Given the description of an element on the screen output the (x, y) to click on. 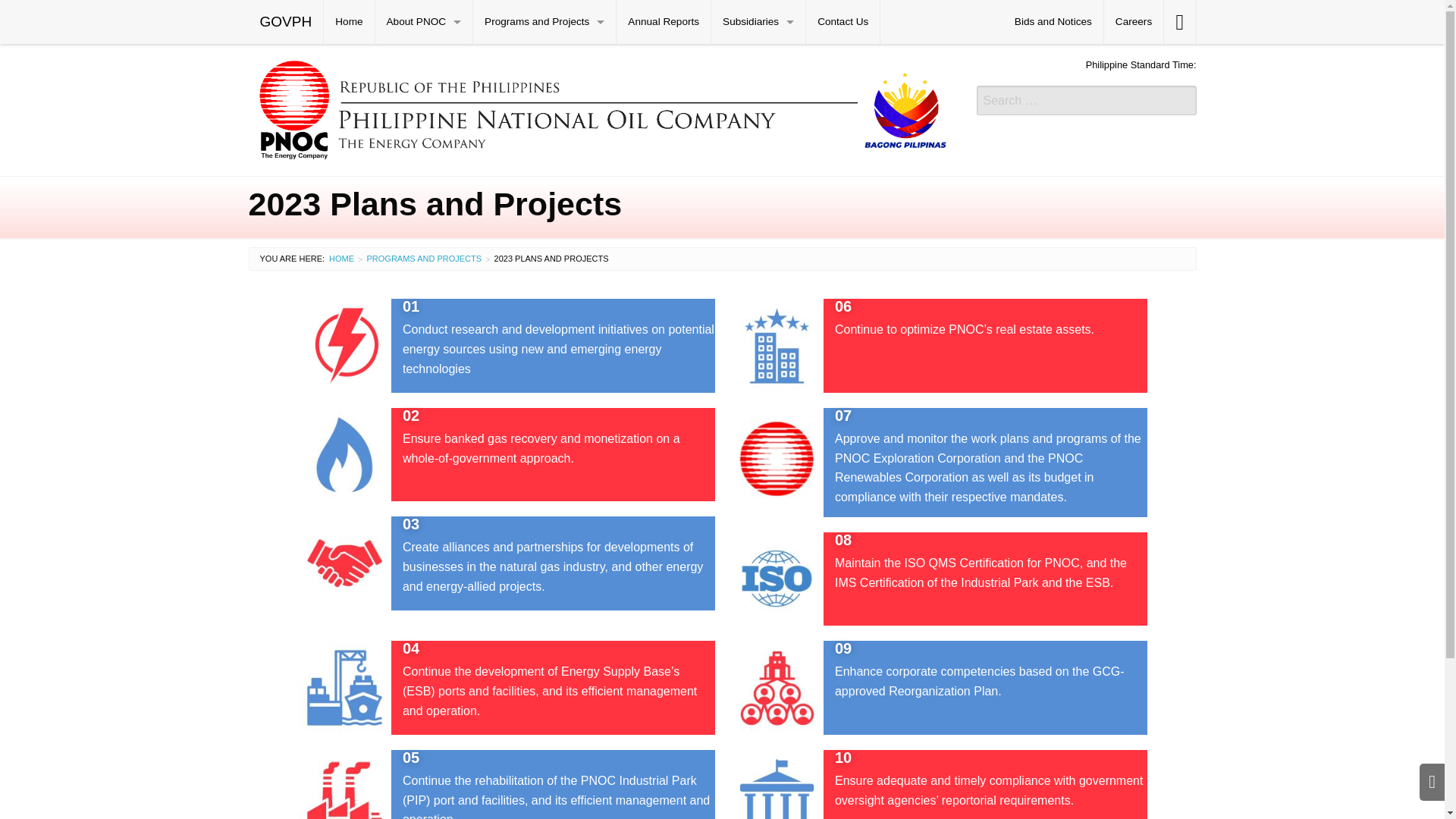
GOVPH (285, 22)
Search for: (1086, 100)
About PNOC (424, 22)
PNOC (600, 107)
Home (348, 22)
Programs and Projects (423, 257)
